Given the description of an element on the screen output the (x, y) to click on. 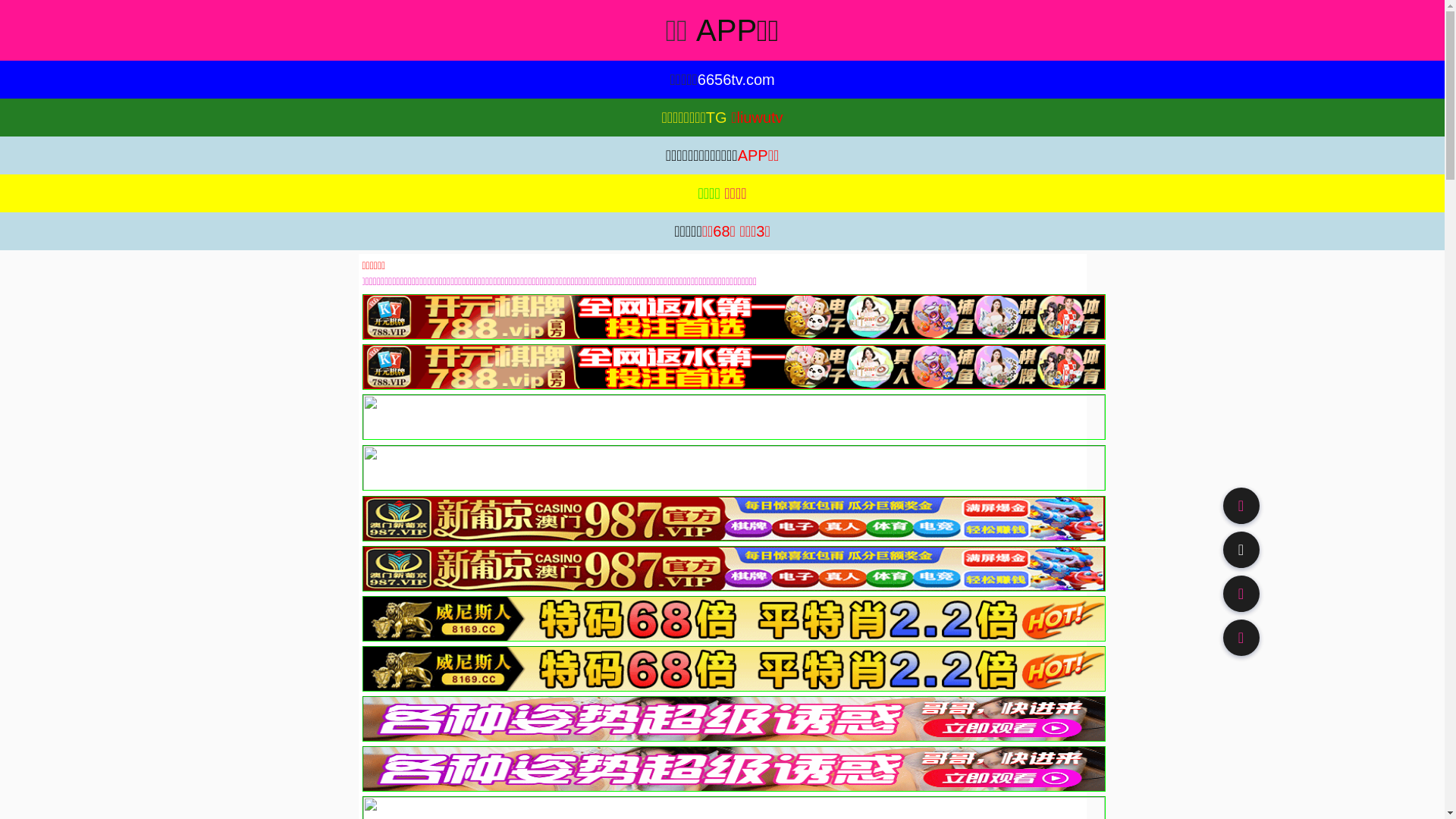
91TV Element type: hover (1240, 593)
